Given the description of an element on the screen output the (x, y) to click on. 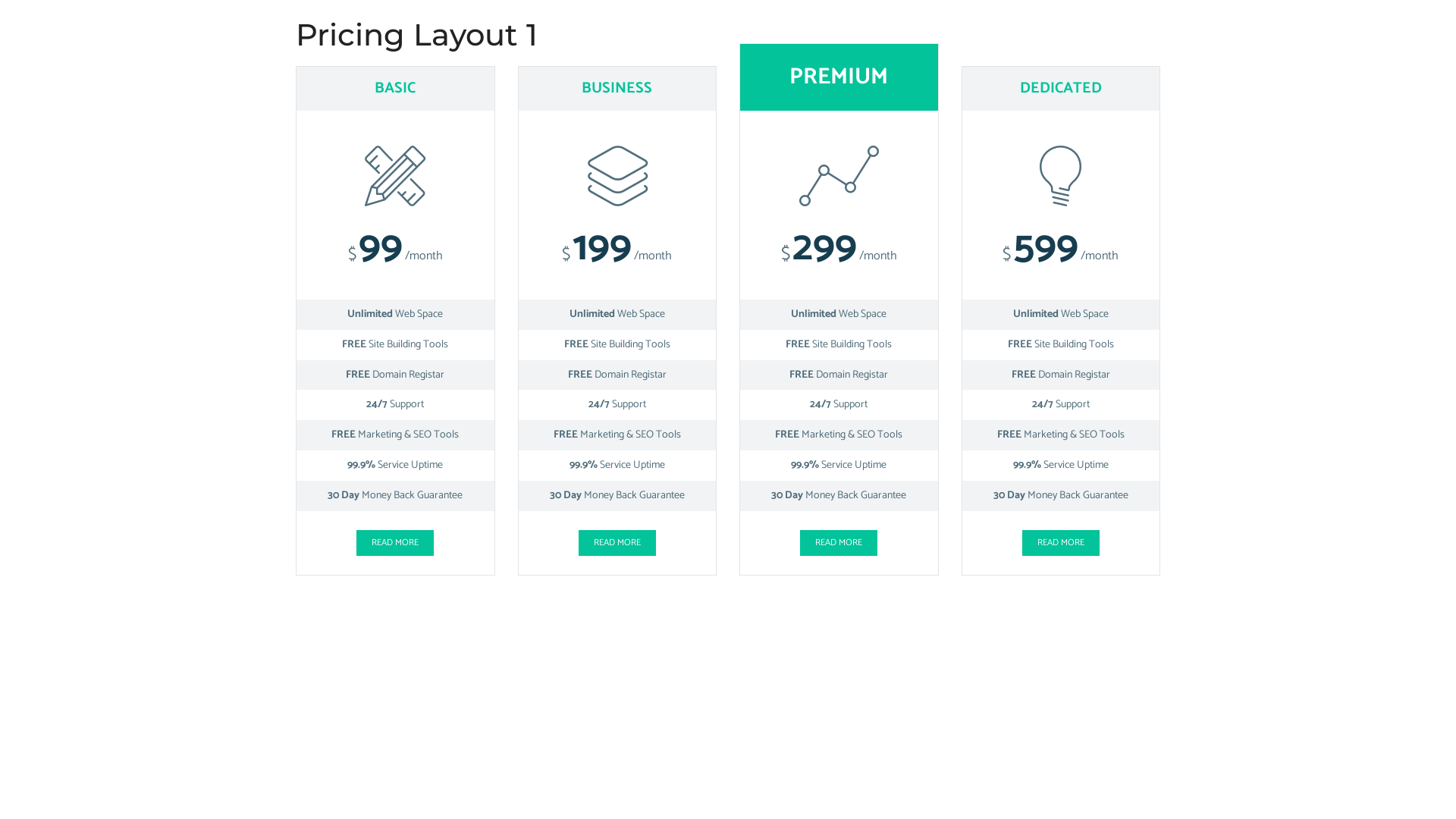
READ MORE Element type: text (616, 542)
READ MORE Element type: text (1060, 542)
READ MORE Element type: text (838, 542)
READ MORE Element type: text (394, 542)
